Given the description of an element on the screen output the (x, y) to click on. 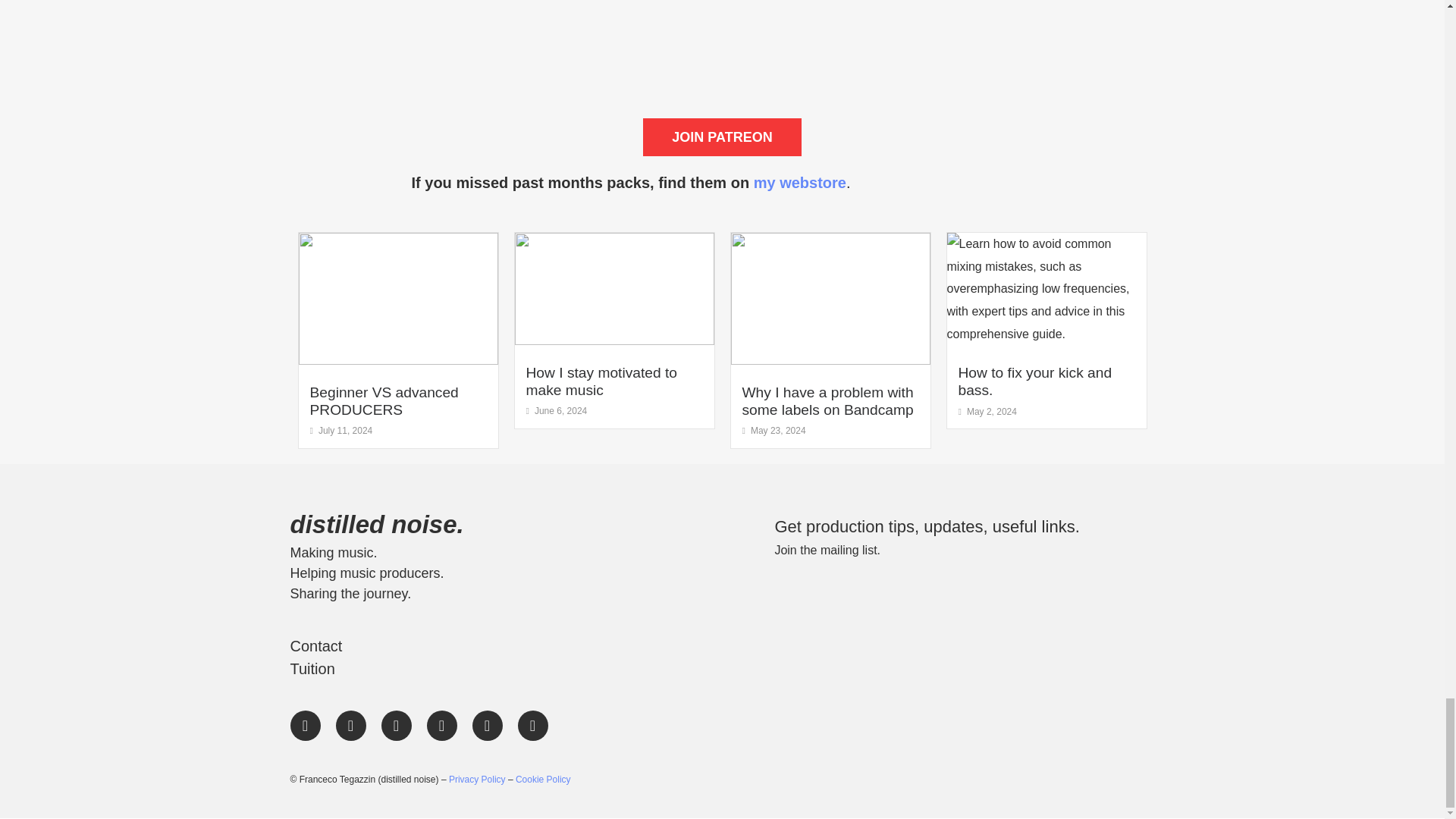
JOIN PATREON (721, 136)
How to fix your kick and bass. (1035, 381)
Beginner VS advanced PRODUCERS (383, 400)
Why I have a problem with some labels on Bandcamp (826, 400)
How I stay motivated to make music (601, 381)
